Given the description of an element on the screen output the (x, y) to click on. 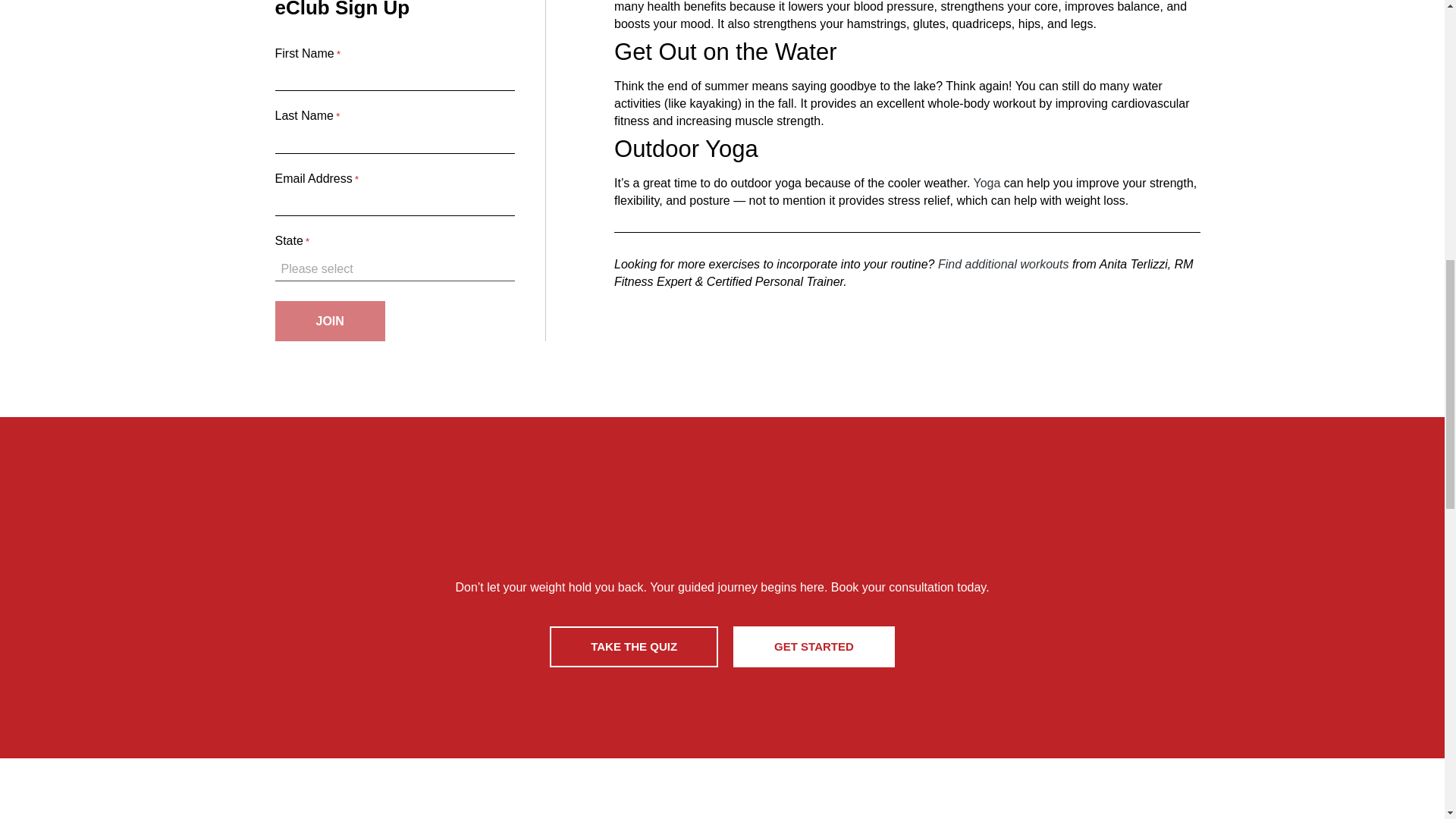
Page 4 (906, 191)
Page 4 (906, 16)
Page 4 (906, 102)
Join (329, 321)
